Given the description of an element on the screen output the (x, y) to click on. 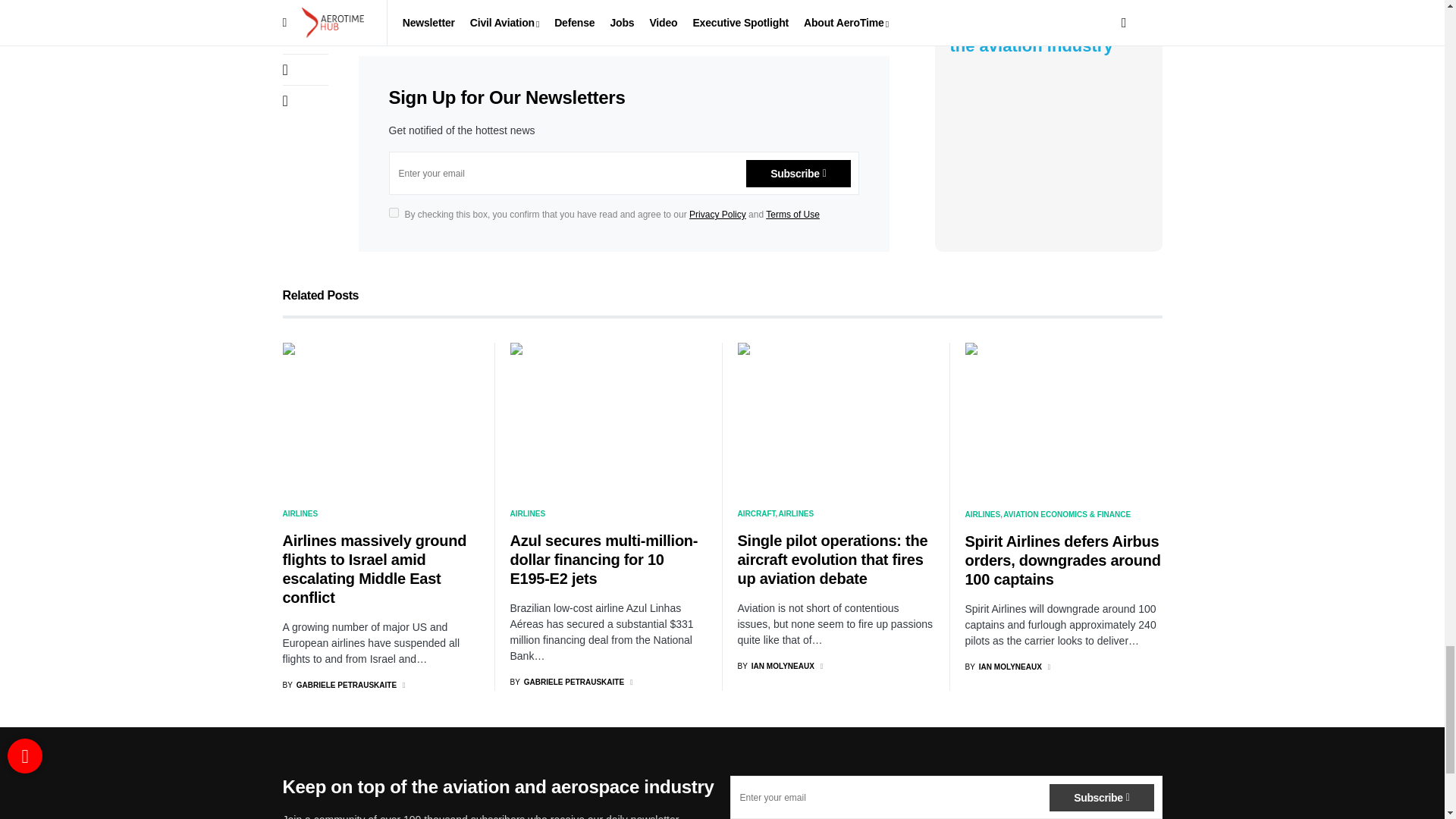
View all posts by Ian Molyneaux (1002, 666)
View all posts by Gabriele Petrauskaite (339, 685)
on (392, 212)
View all posts by Ian Molyneaux (774, 665)
View all posts by Gabriele Petrauskaite (566, 681)
